Given the description of an element on the screen output the (x, y) to click on. 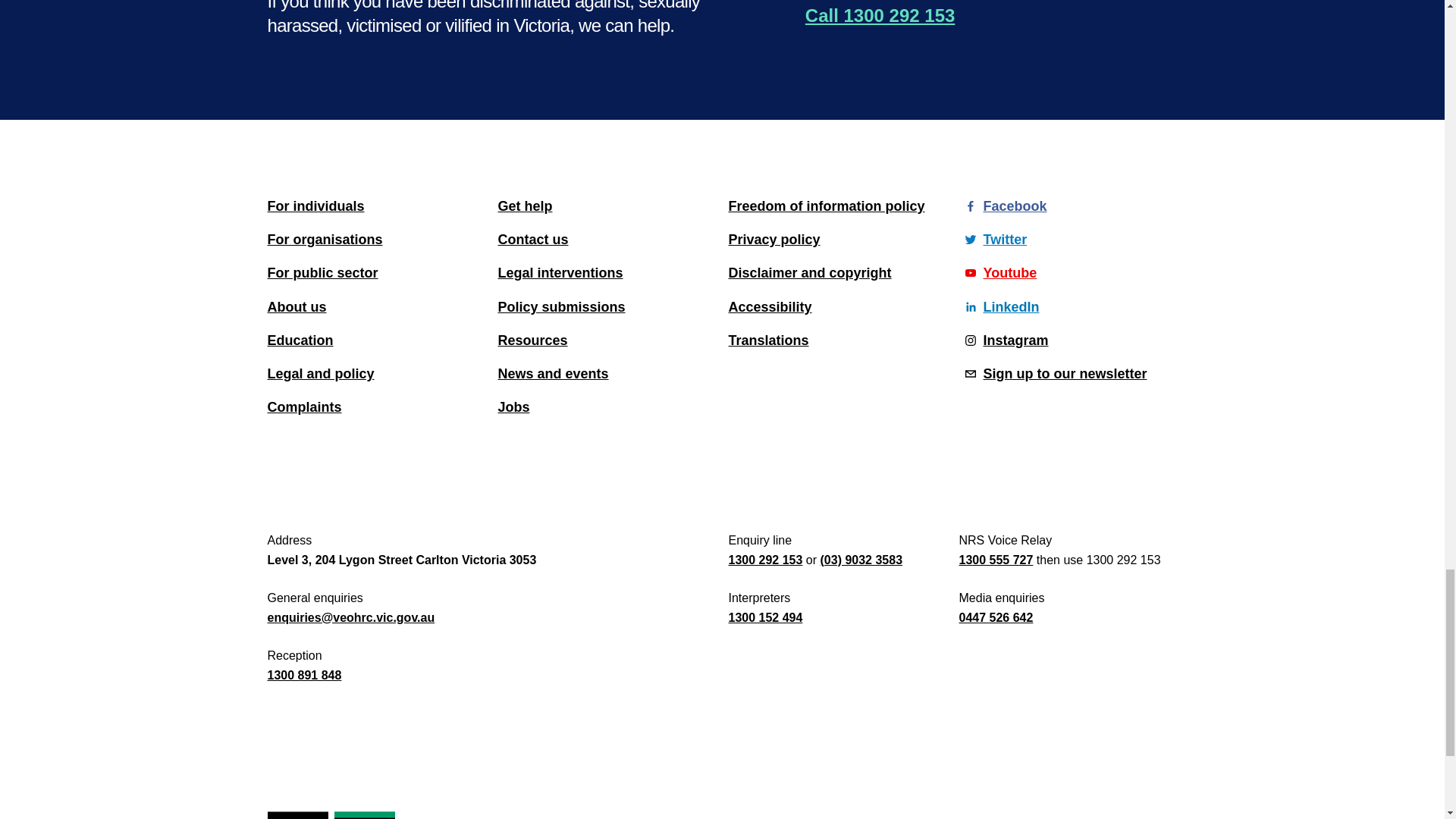
Policy submissions (606, 306)
About us (375, 306)
Education (375, 340)
For public sector (375, 272)
Resources (606, 340)
News and events (606, 373)
Contact us (606, 239)
Complaints (375, 406)
Legal and policy (375, 373)
Legal interventions (606, 272)
For individuals (375, 206)
Call 1300 292 153 (880, 15)
For organisations (375, 239)
Get help (606, 206)
